Given the description of an element on the screen output the (x, y) to click on. 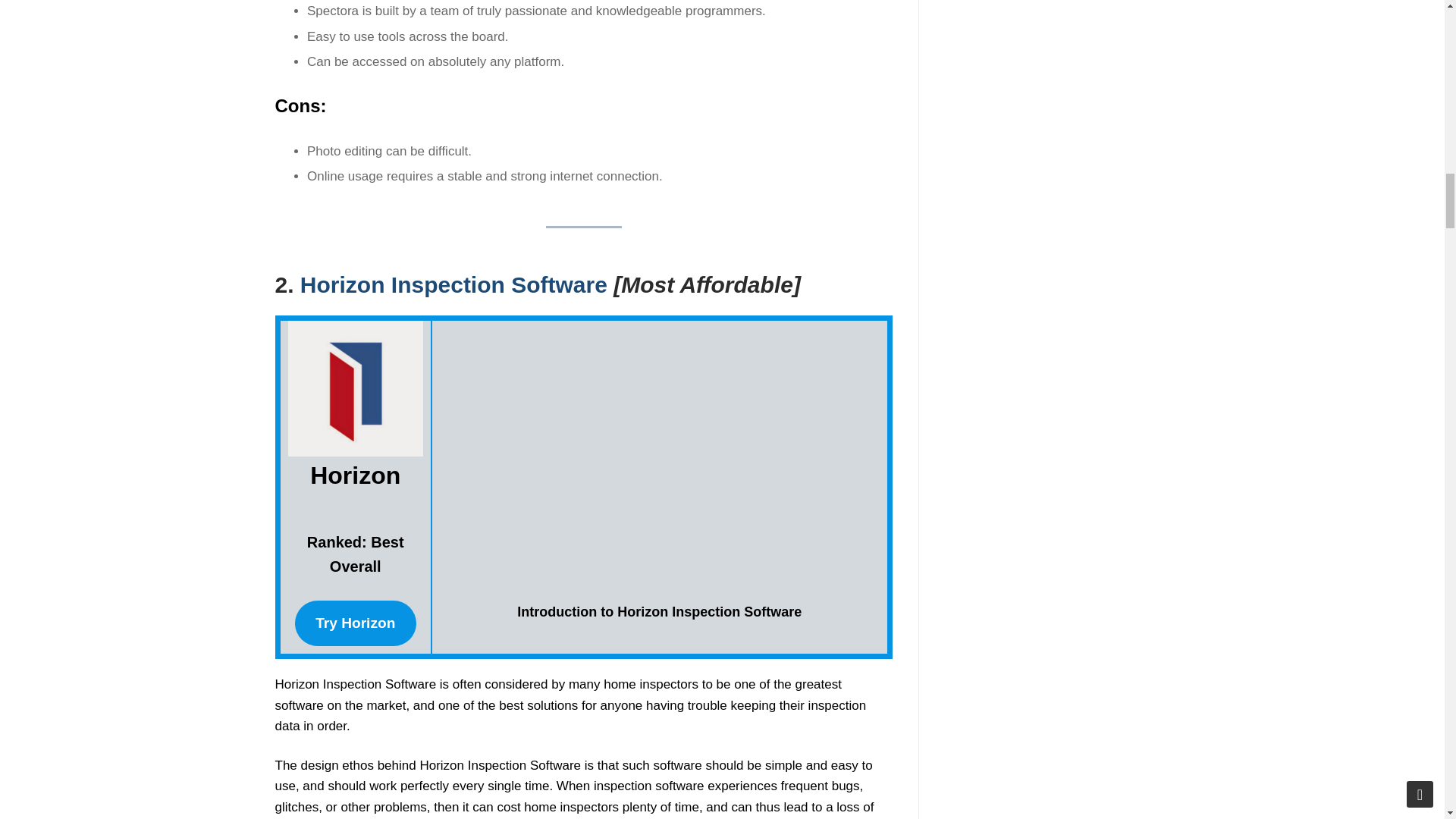
Try Horizon (355, 623)
HORIZON Inspection Software - Overview webinar (659, 464)
Horizon Inspection Software (453, 284)
